Given the description of an element on the screen output the (x, y) to click on. 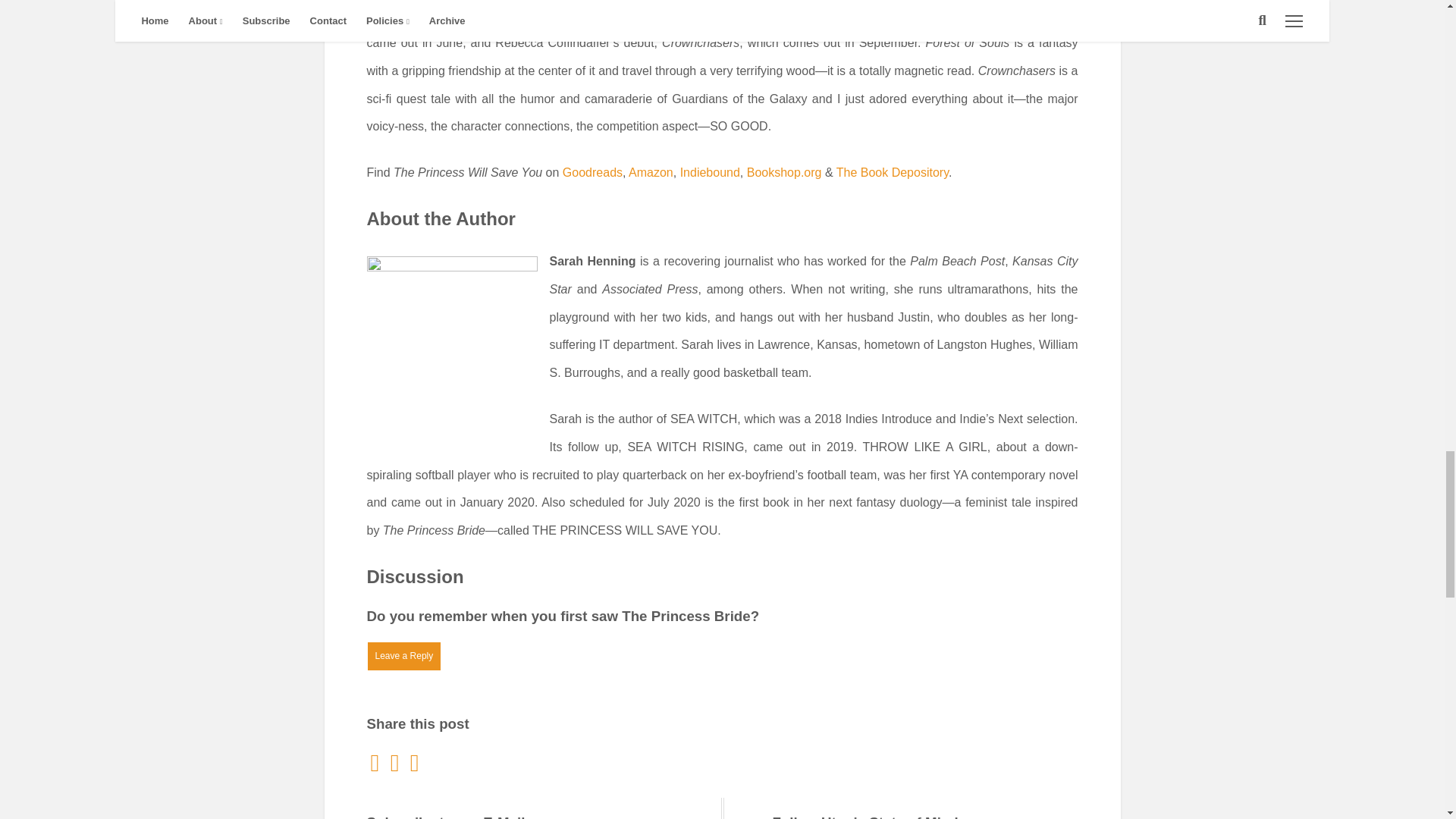
Email (376, 762)
Indiebound (709, 172)
Leave a Reply (404, 656)
Facebook (414, 762)
Email (376, 762)
Amazon (650, 172)
Twitter (396, 762)
Twitter (396, 762)
The Book Depository (892, 172)
Goodreads (592, 172)
